Given the description of an element on the screen output the (x, y) to click on. 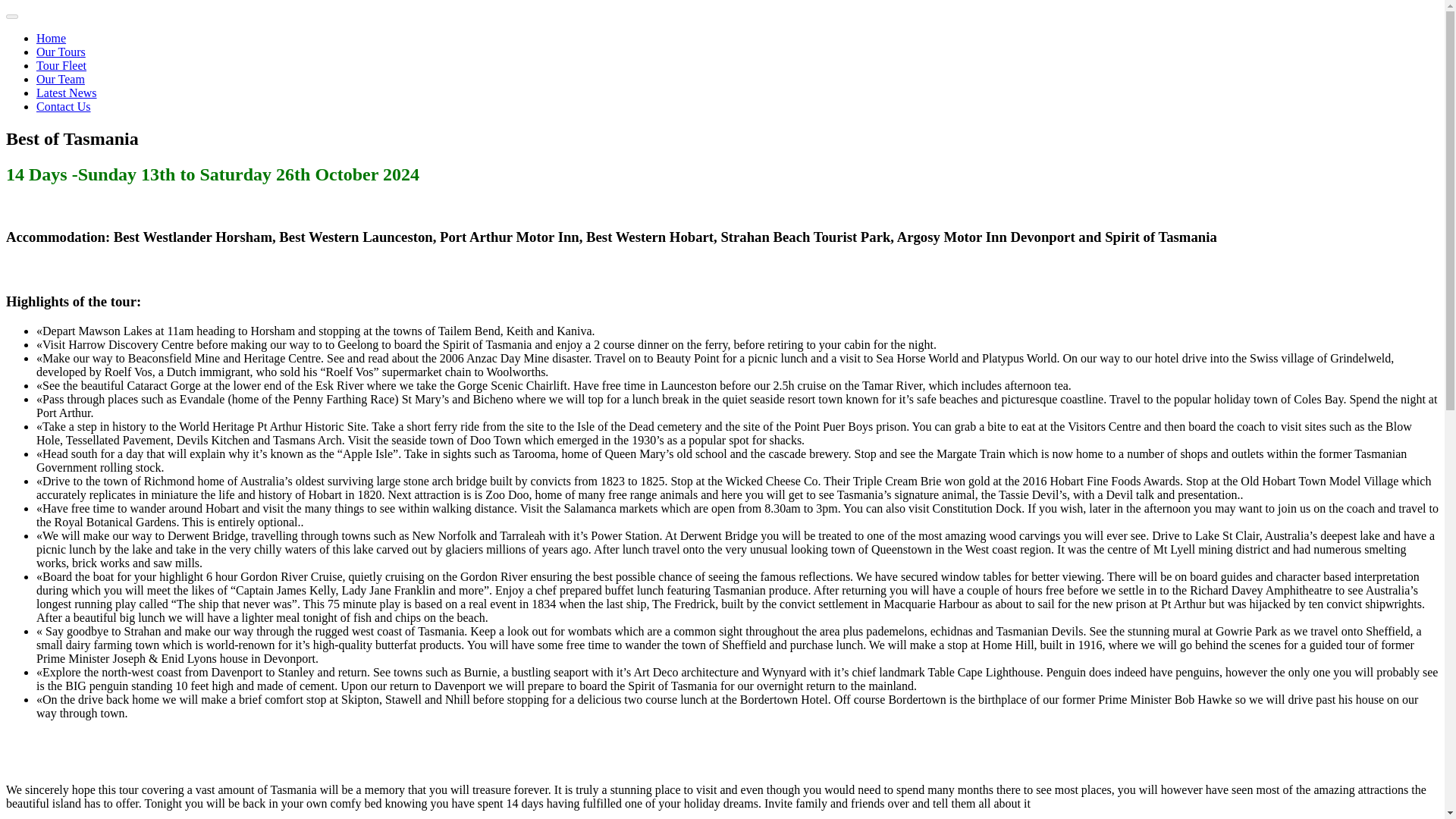
Our Tours (60, 51)
Latest News (66, 92)
Our Team (60, 78)
Home (50, 38)
Contact Us (63, 106)
Tour Fleet (60, 65)
